Given the description of an element on the screen output the (x, y) to click on. 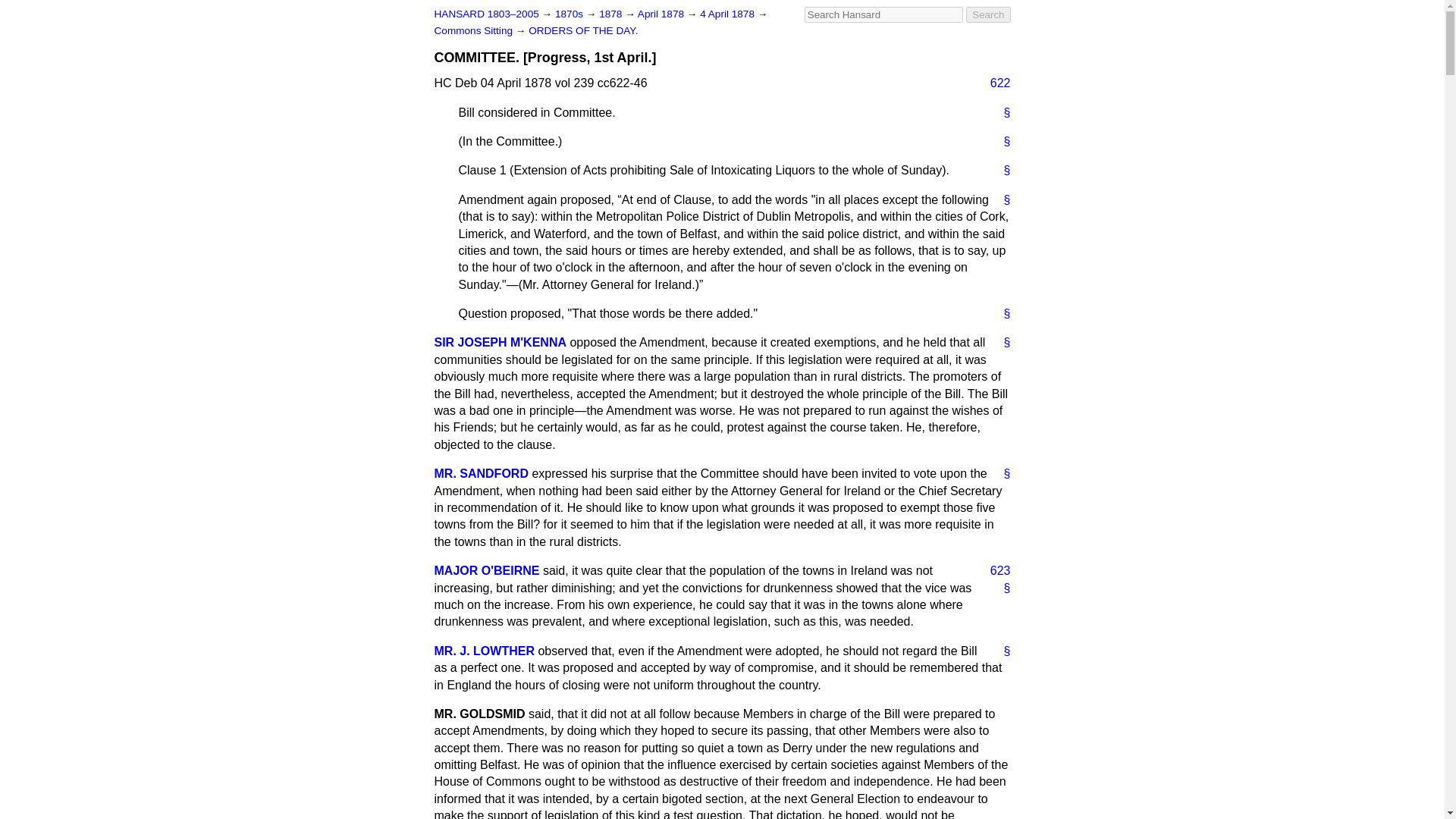
Access key: S (883, 14)
April 1878 (662, 13)
Link to this contribution (1000, 313)
Mr James Lowther (483, 650)
MR. SANDFORD (480, 472)
ORDERS OF THE DAY. (582, 30)
Commons Sitting (474, 30)
Mr Francis O'Beirne (485, 570)
Link to this contribution (1000, 199)
MR. J. LOWTHER (483, 650)
